Given the description of an element on the screen output the (x, y) to click on. 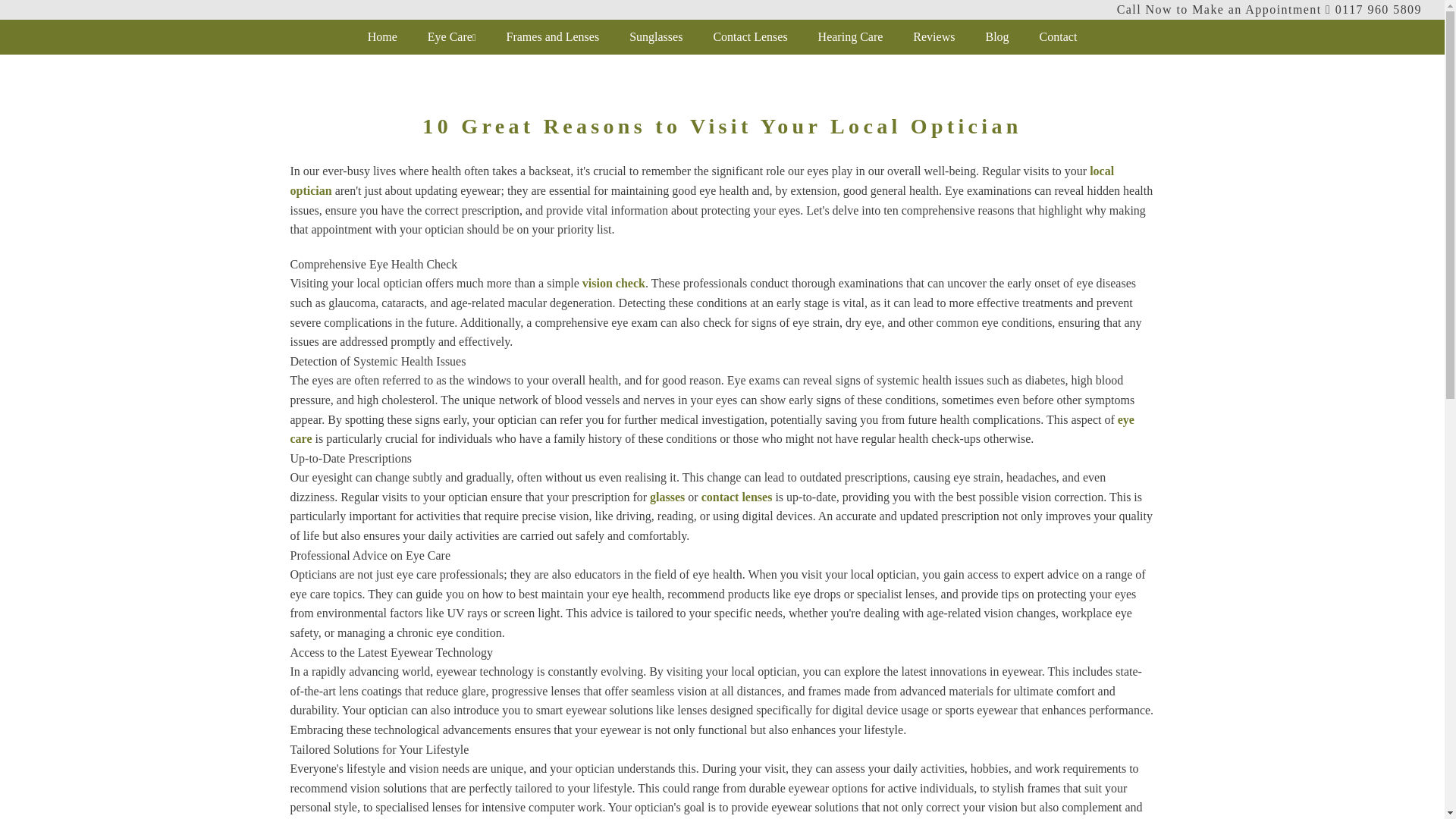
0117 960 5809 (1378, 9)
glasses (666, 496)
Hearing Care (850, 36)
local optician (701, 180)
Frames and Lenses (553, 36)
Contact Lenses (749, 36)
eye care (711, 429)
Sunglasses (655, 36)
Eye Care (452, 36)
Contact (1059, 36)
Home (382, 36)
contact lenses (737, 496)
Reviews (933, 36)
vision check (613, 282)
Blog (996, 36)
